Given the description of an element on the screen output the (x, y) to click on. 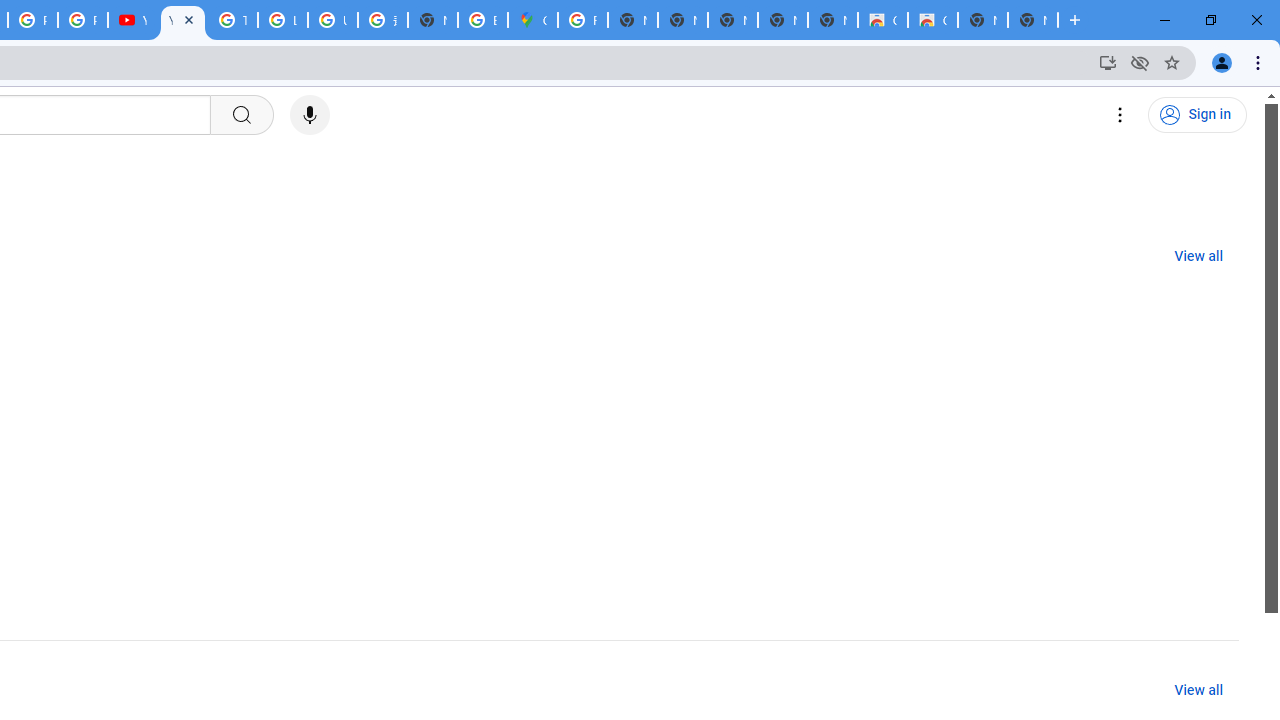
YouTube (182, 20)
Install YouTube (1107, 62)
New Tab (1032, 20)
YouTube (132, 20)
Search with your voice (309, 115)
